Given the description of an element on the screen output the (x, y) to click on. 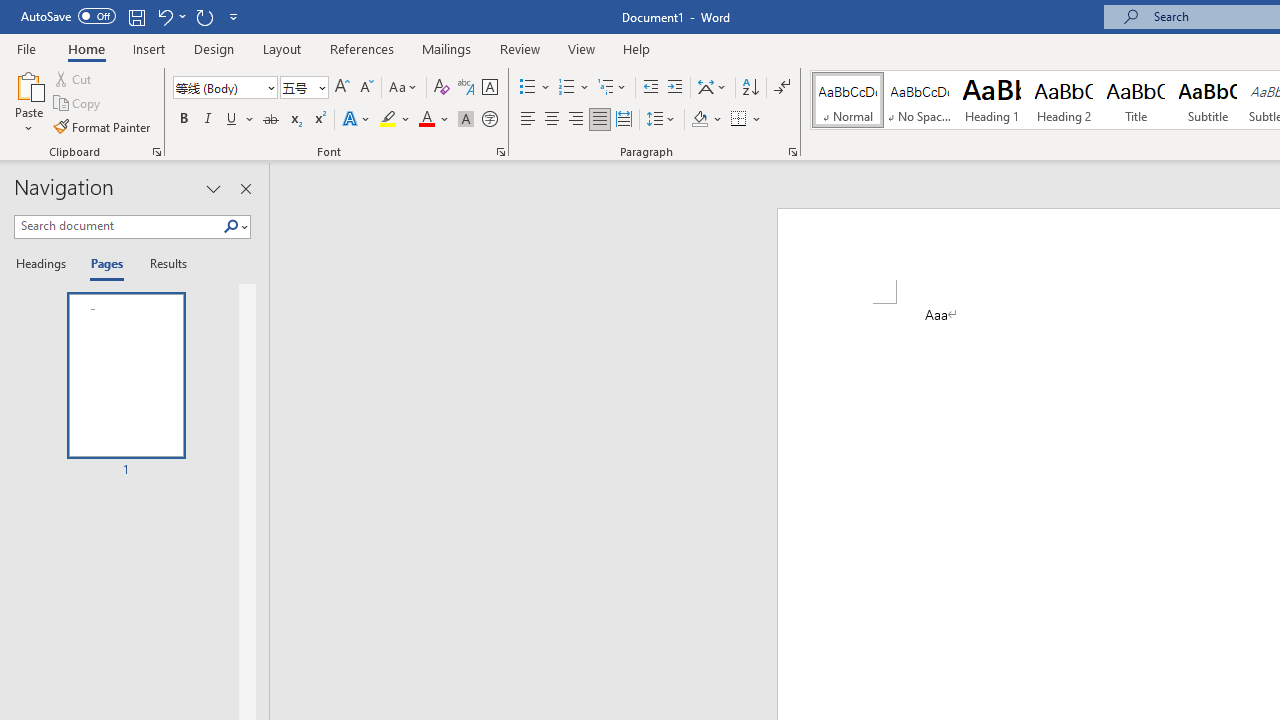
Repeat Increase Indent (204, 15)
